Given the description of an element on the screen output the (x, y) to click on. 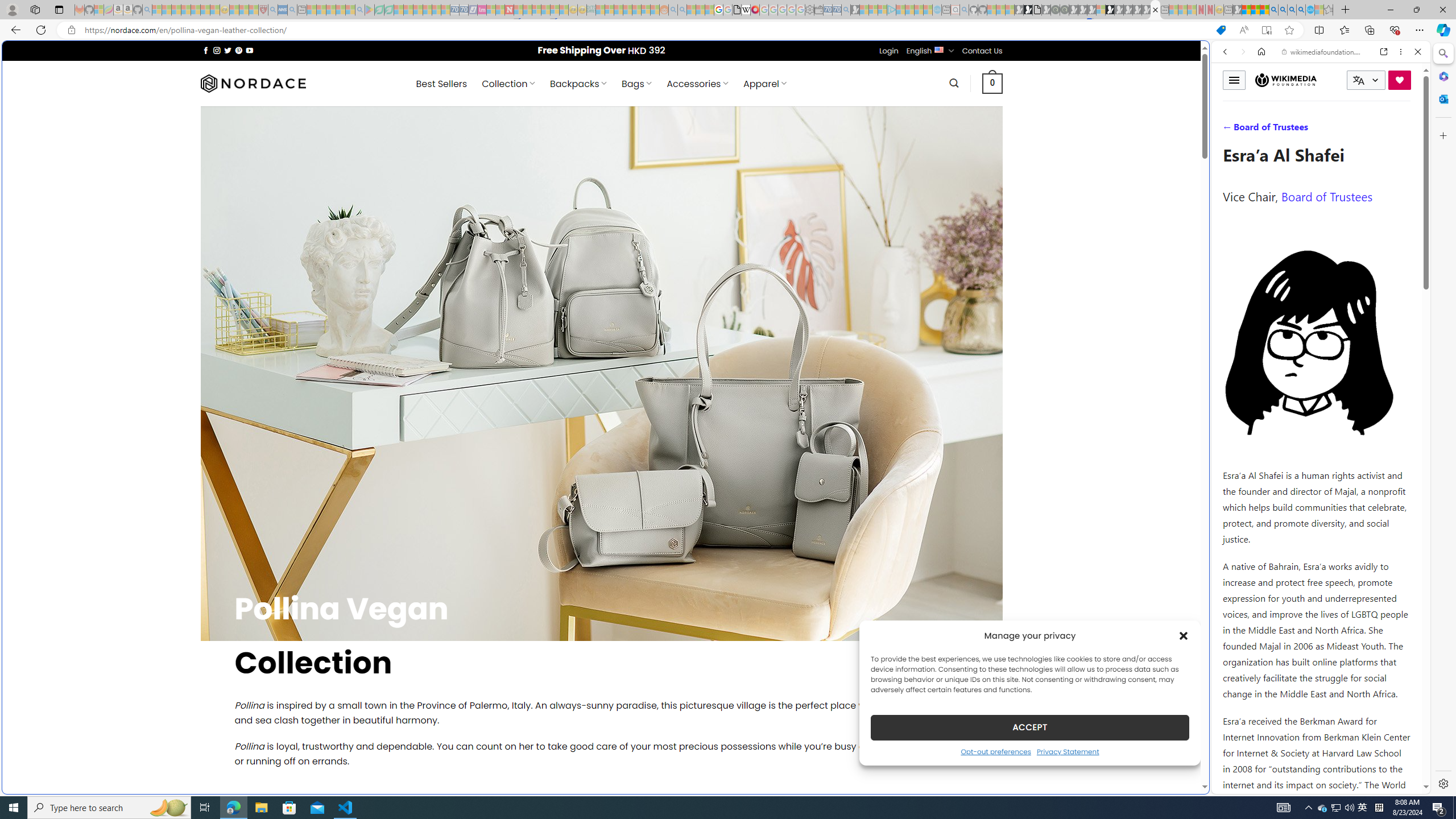
Future Focus Report 2024 - Sleeping (1064, 9)
Class: i icon icon-translate language-switcher__icon (1358, 80)
utah sues federal government - Search - Sleeping (291, 9)
